Given the description of an element on the screen output the (x, y) to click on. 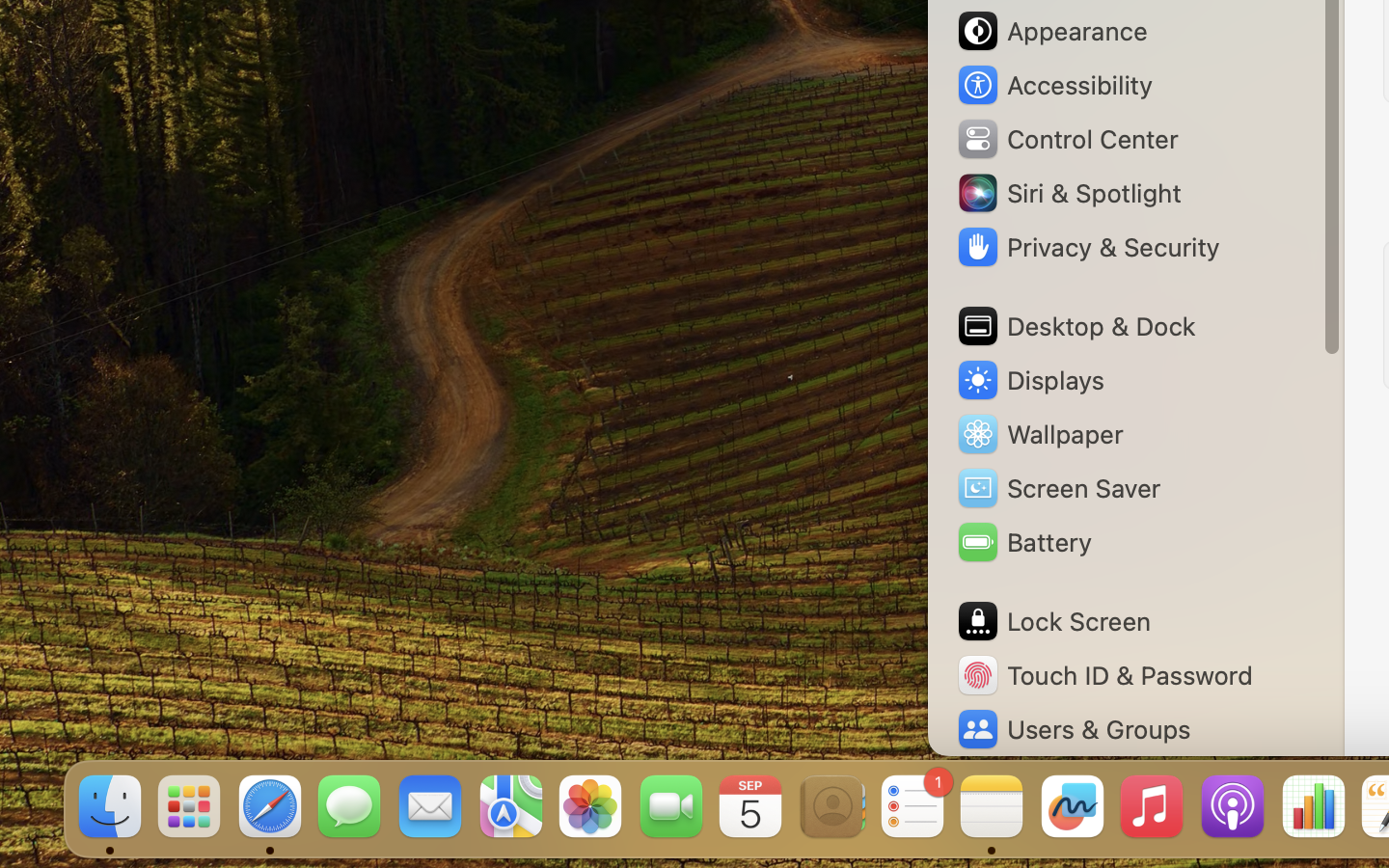
Users & Groups Element type: AXStaticText (1072, 728)
Siri & Spotlight Element type: AXStaticText (1067, 192)
Touch ID & Password Element type: AXStaticText (1103, 674)
Accessibility Element type: AXStaticText (1053, 84)
Privacy & Security Element type: AXStaticText (1086, 246)
